Given the description of an element on the screen output the (x, y) to click on. 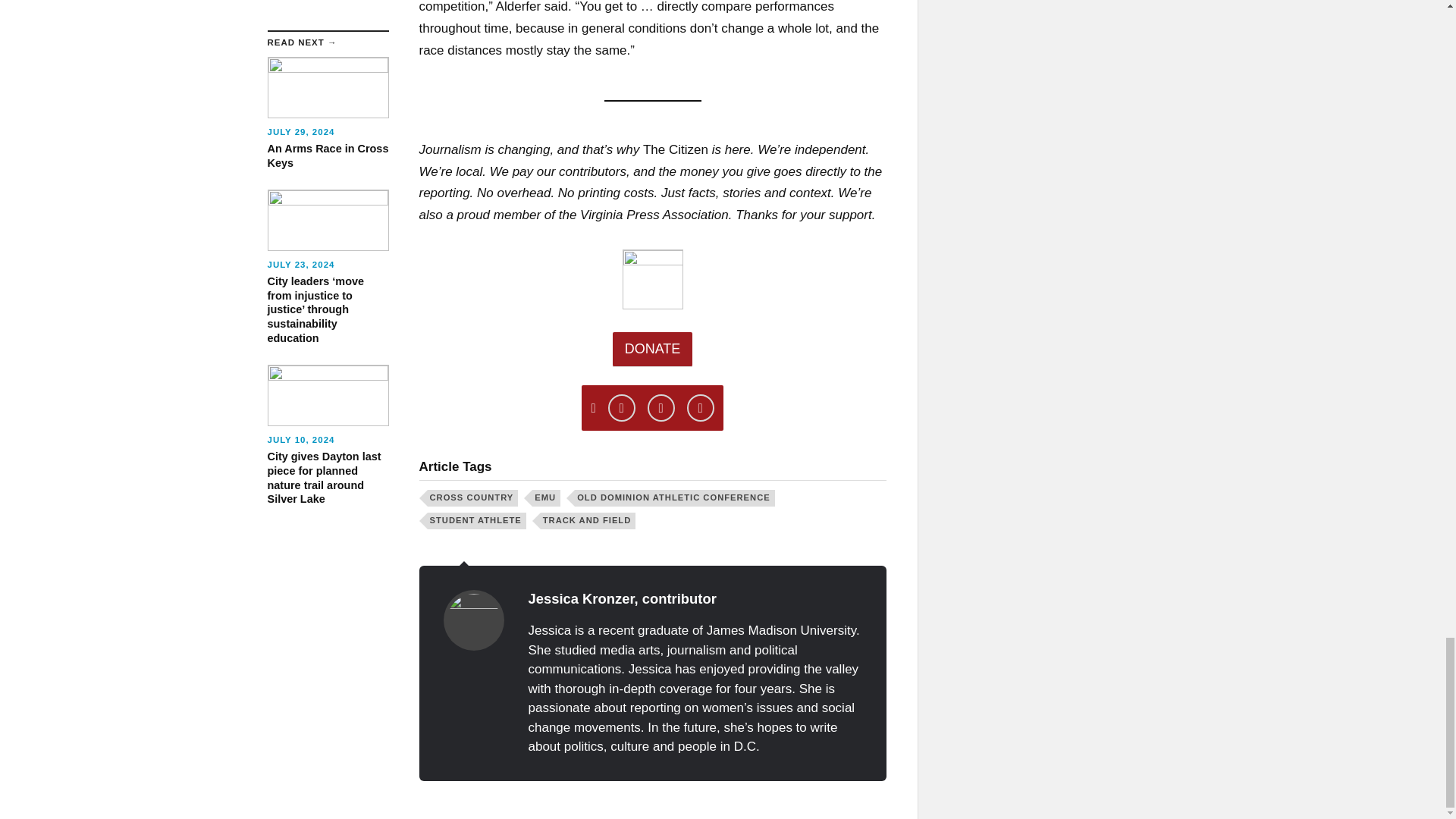
Share on Twitter (621, 407)
DONATE (652, 349)
OLD DOMINION ATHLETIC CONFERENCE (674, 497)
TRACK AND FIELD (588, 520)
Share on LinkedIn (700, 407)
Share on Facebook (661, 407)
STUDENT ATHLETE (476, 520)
CROSS COUNTRY (473, 497)
EMU (546, 497)
